Given the description of an element on the screen output the (x, y) to click on. 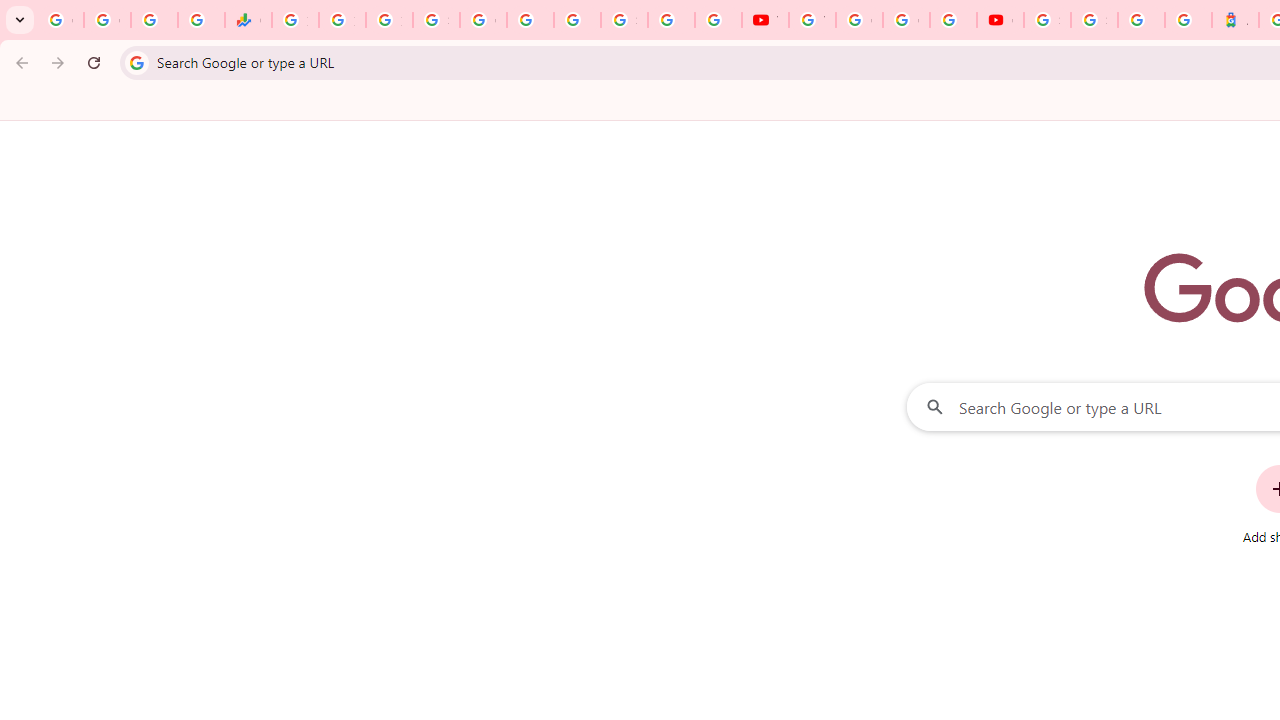
Sign in - Google Accounts (1094, 20)
